Given the description of an element on the screen output the (x, y) to click on. 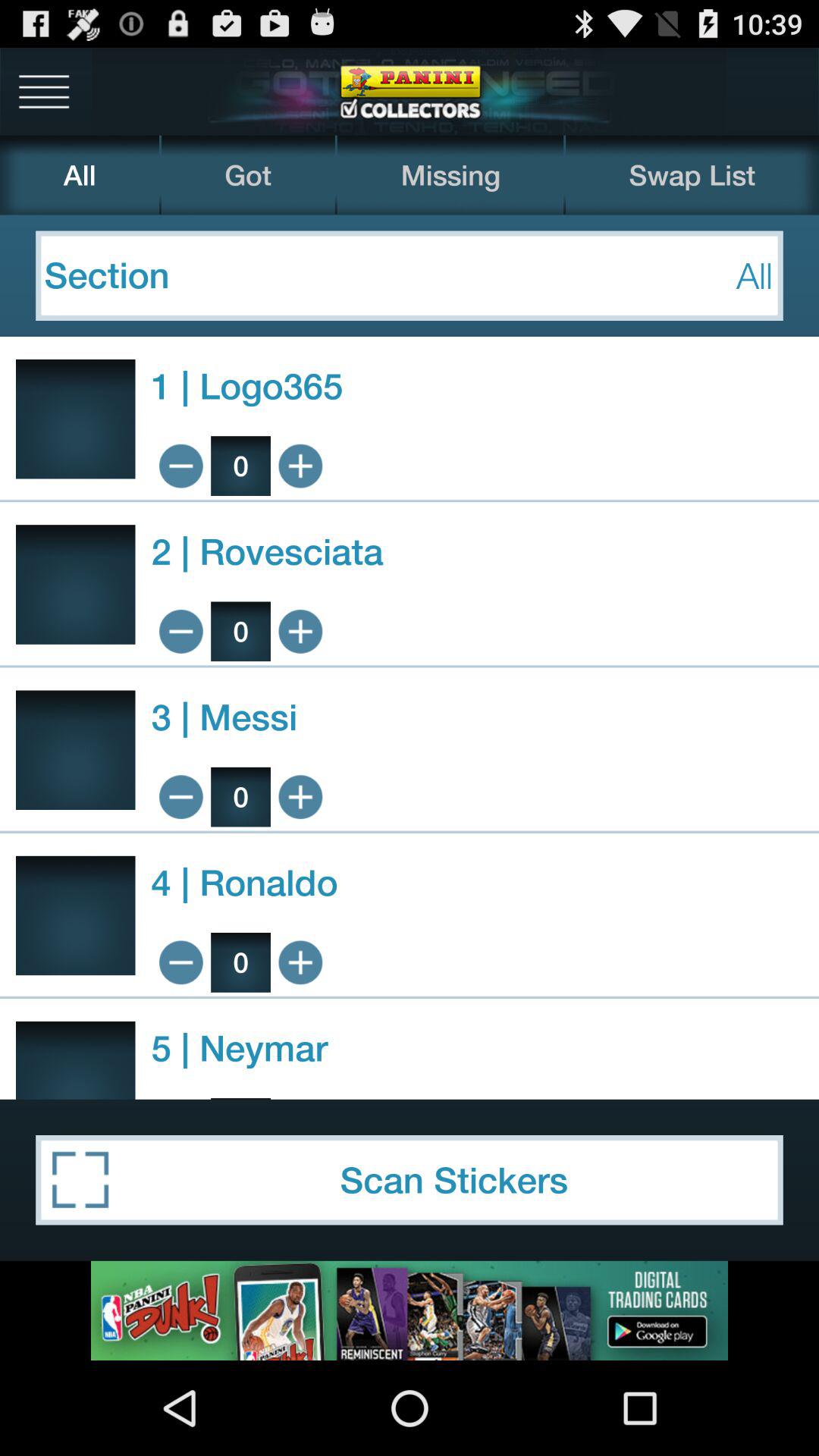
open advertisement (409, 1310)
